Given the description of an element on the screen output the (x, y) to click on. 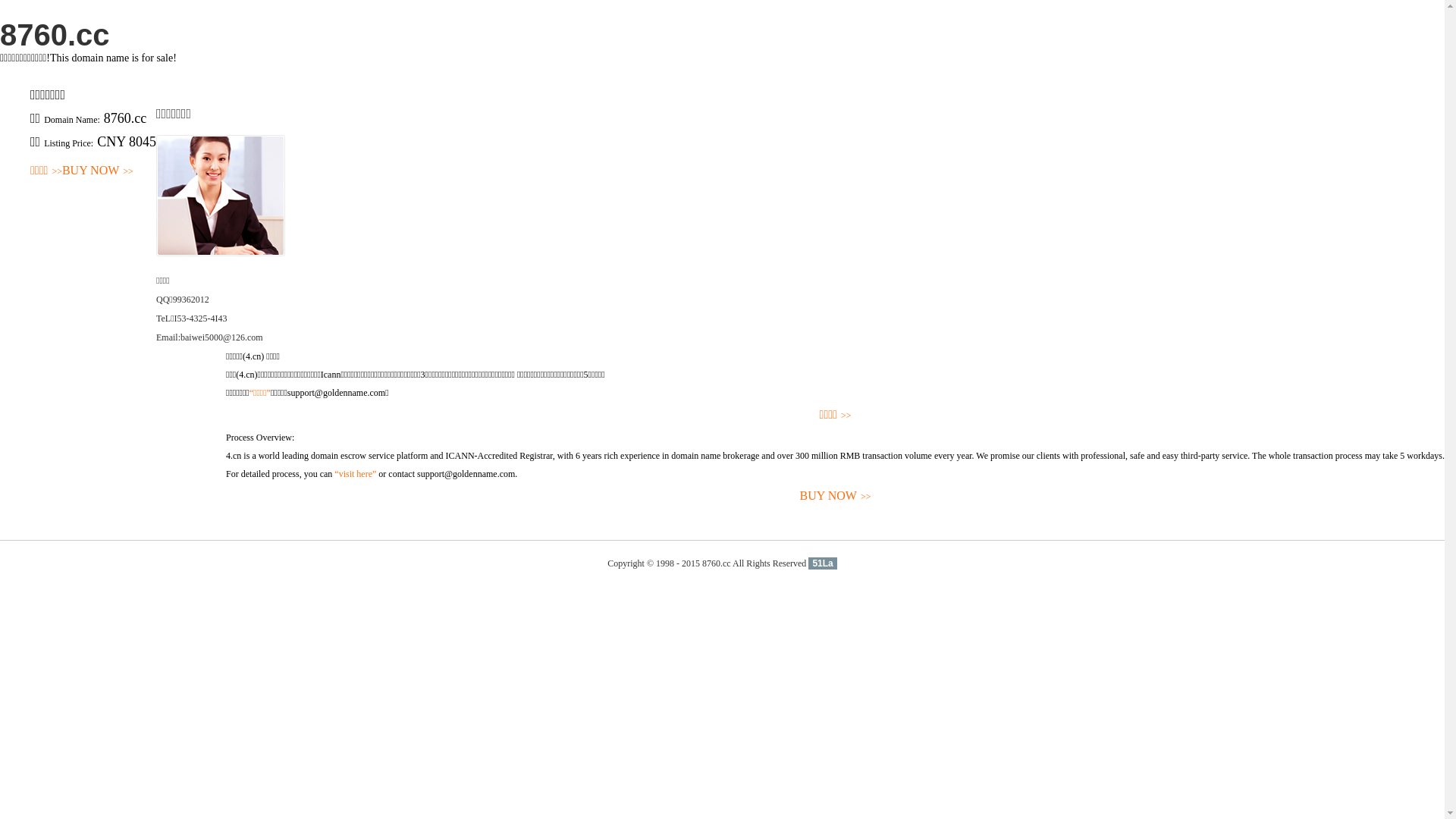
BUY NOW>> Element type: text (97, 170)
51La Element type: text (822, 563)
BUY NOW>> Element type: text (834, 496)
